Given the description of an element on the screen output the (x, y) to click on. 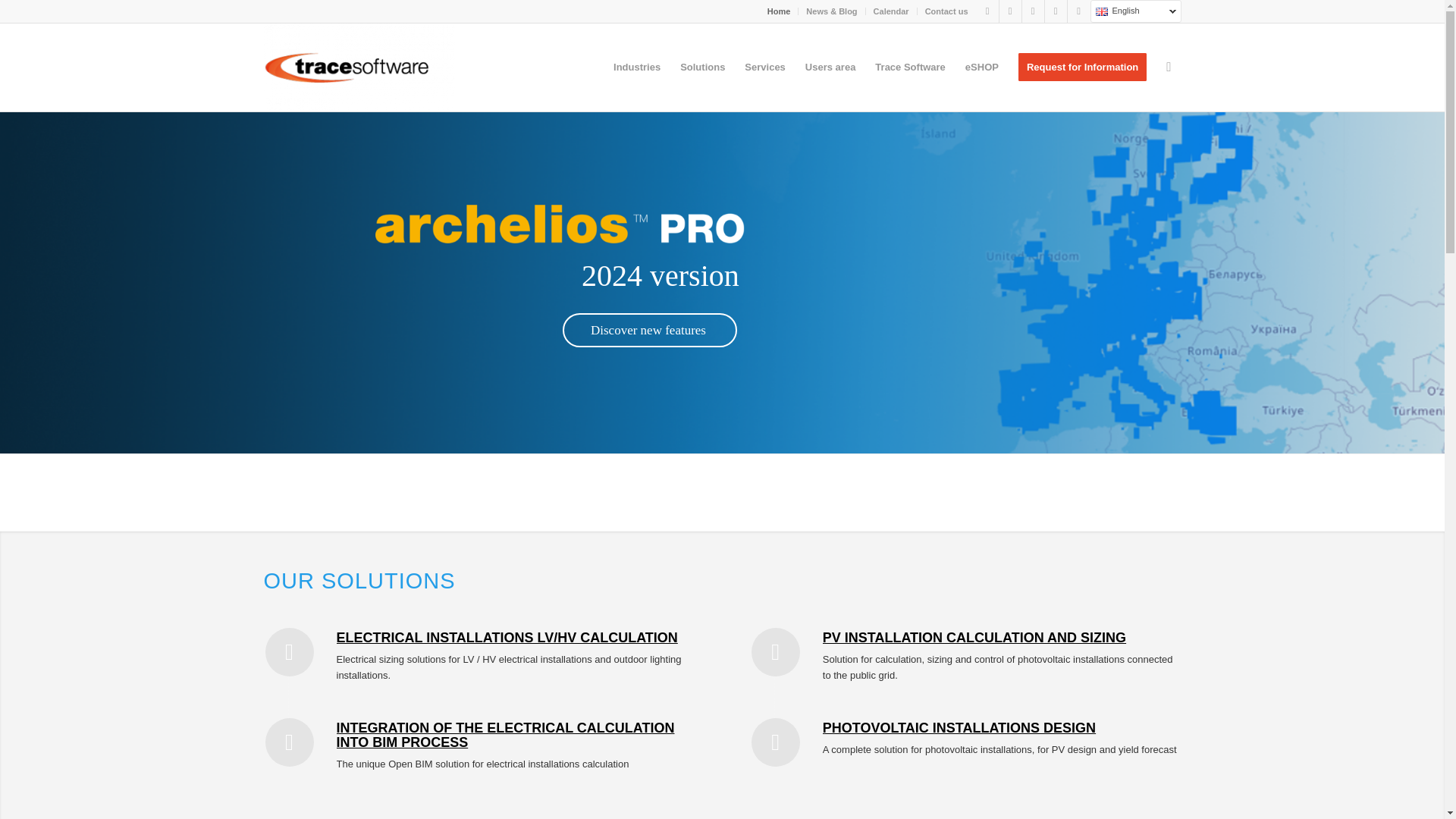
Solutions (702, 67)
Integration of the electrical calculation into BIM process (505, 735)
LinkedIn (1032, 11)
Industries (636, 67)
Contact us (946, 11)
PV installation calculation and sizing (973, 637)
Facebook (987, 11)
Twitter (1010, 11)
Rss (1078, 11)
Photovoltaic installations design (959, 727)
Home (778, 11)
Youtube (1056, 11)
Calendar (890, 11)
